Given the description of an element on the screen output the (x, y) to click on. 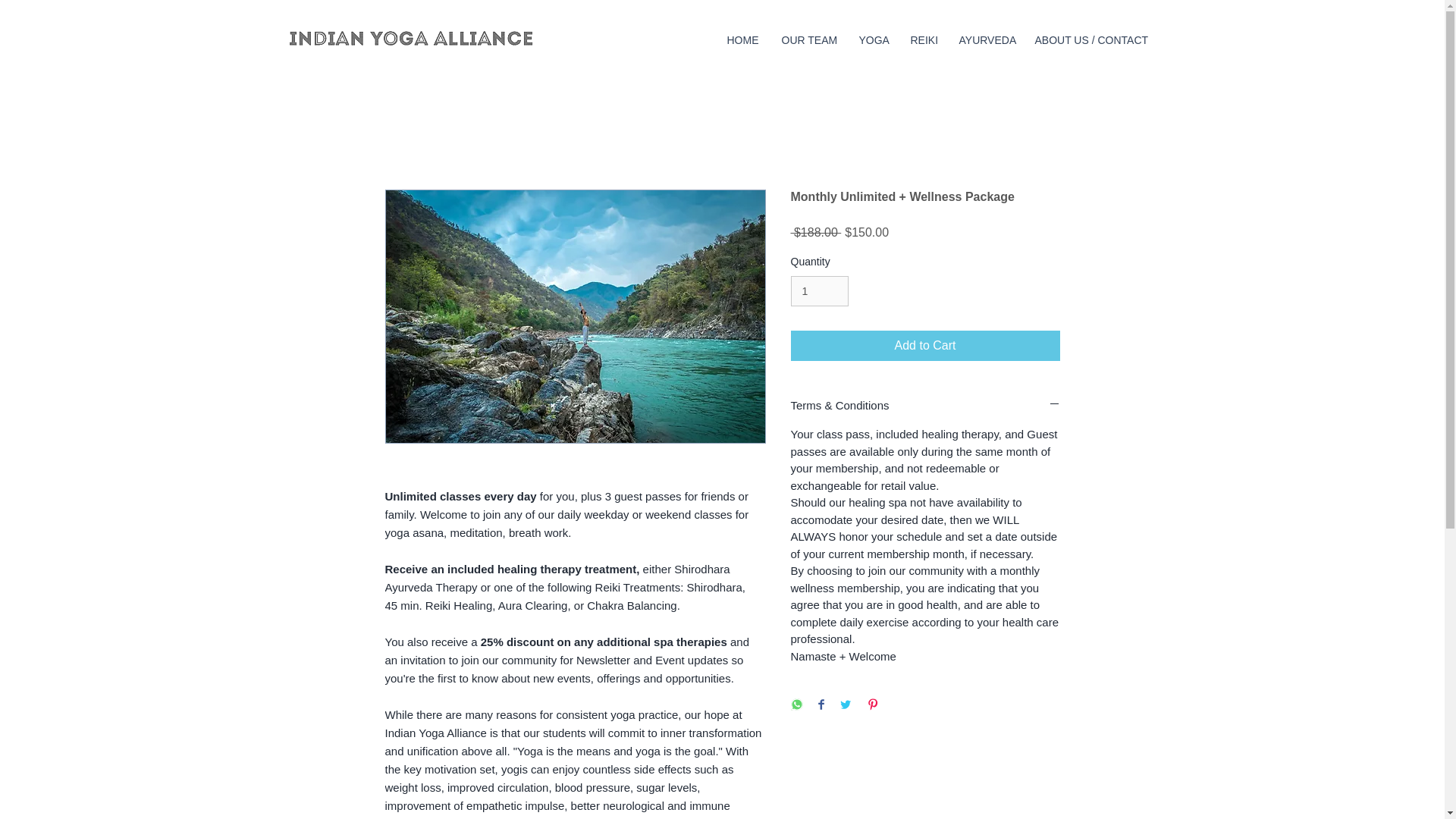
AYURVEDA (985, 40)
Add to Cart (924, 345)
HOME (743, 40)
YOGA (873, 40)
OUR TEAM (808, 40)
1 (818, 291)
REIKI (923, 40)
